Given the description of an element on the screen output the (x, y) to click on. 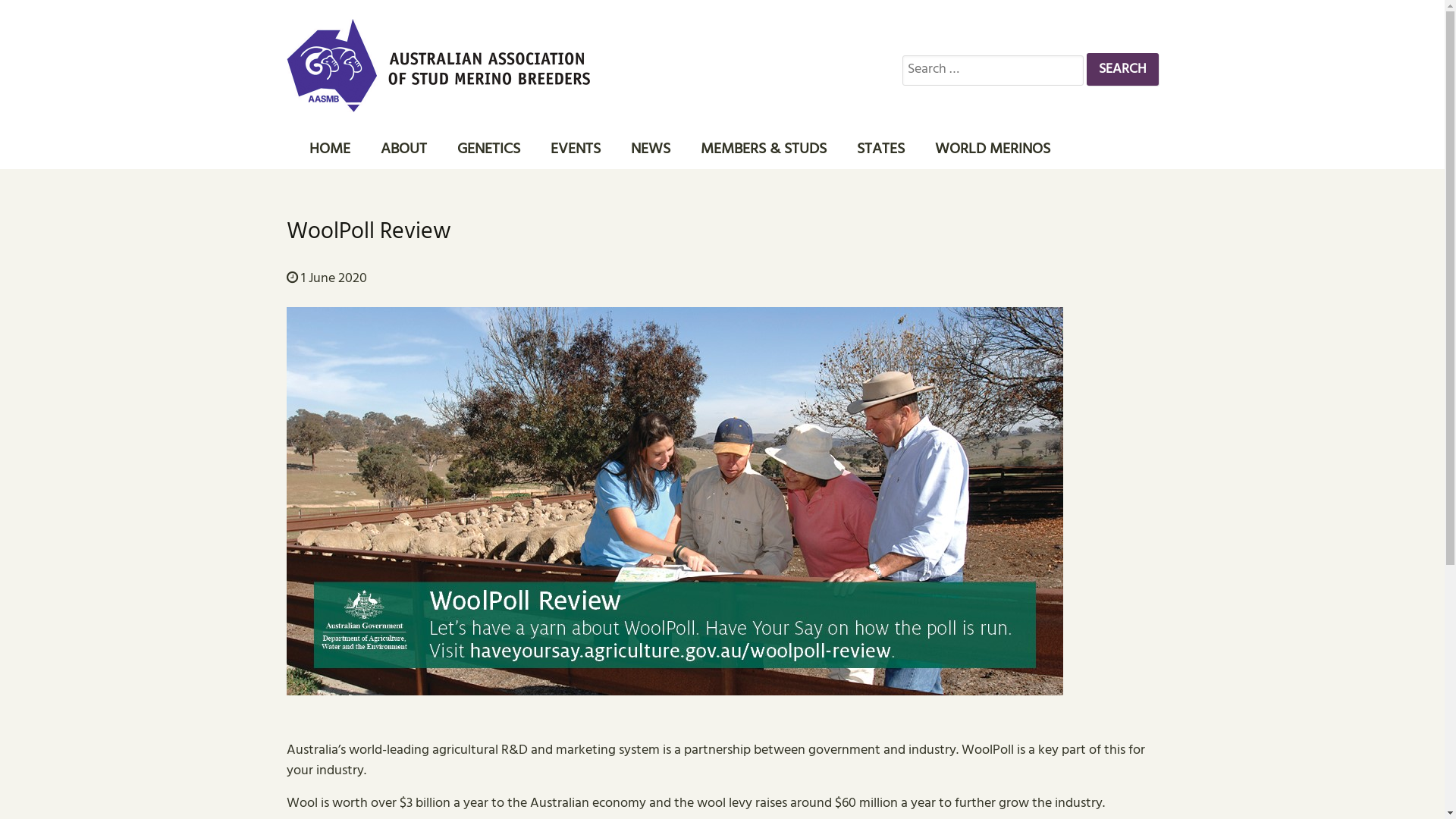
GENETICS Element type: text (487, 148)
MEMBERS & STUDS Element type: text (763, 148)
STATES Element type: text (880, 148)
Search for: Element type: hover (992, 70)
WORLD MERINOS Element type: text (991, 148)
NEWS Element type: text (650, 148)
Search Element type: text (1121, 69)
HOME Element type: text (329, 148)
EVENTS Element type: text (575, 148)
ABOUT Element type: text (403, 148)
